Given the description of an element on the screen output the (x, y) to click on. 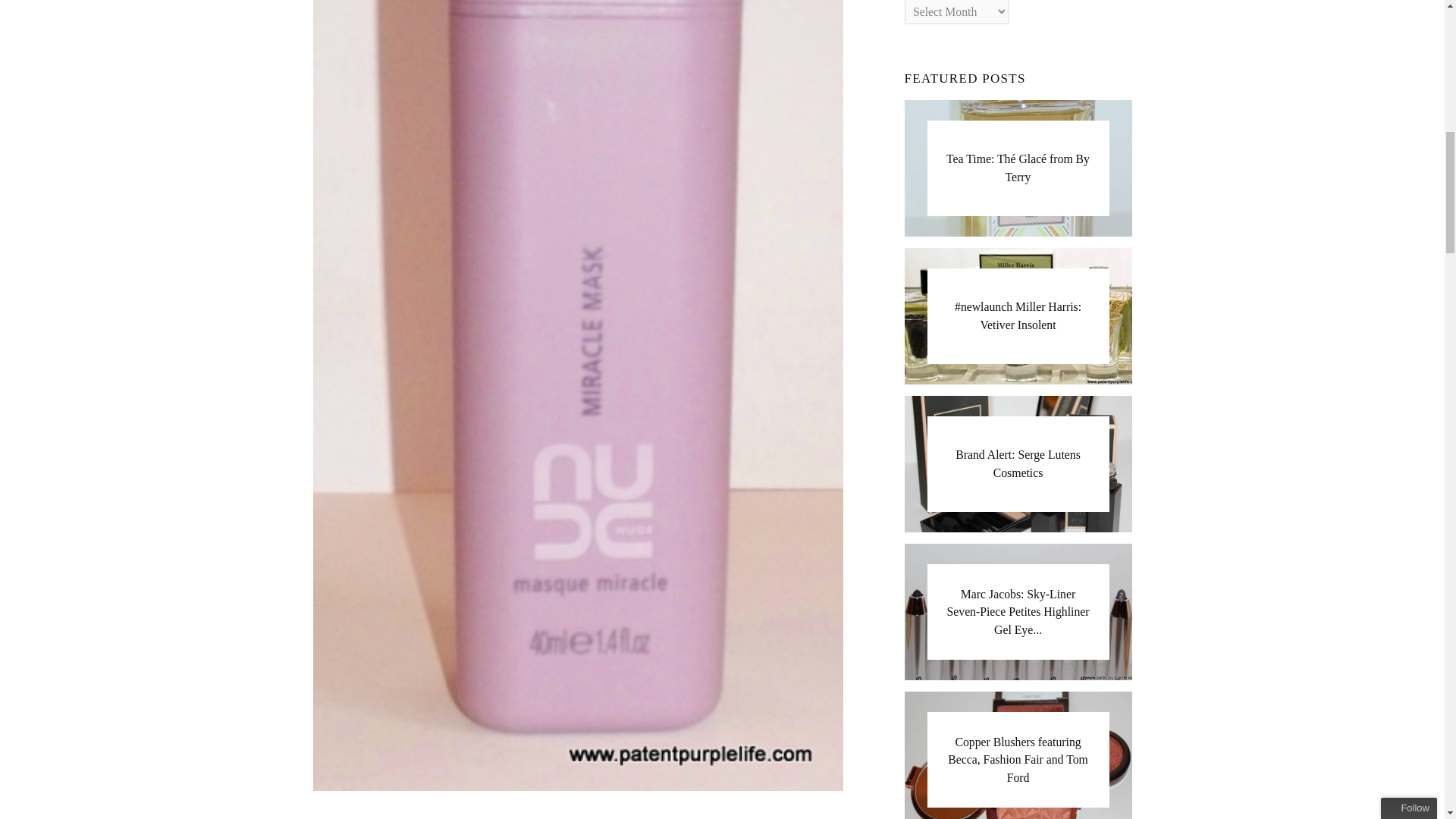
Sign me up! (1323, 167)
